Given the description of an element on the screen output the (x, y) to click on. 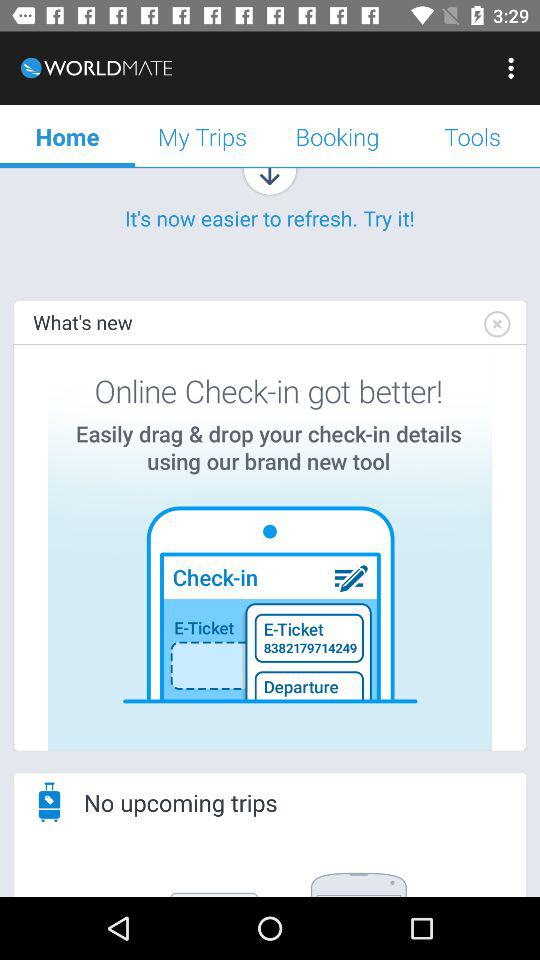
check-in tool (269, 547)
